Given the description of an element on the screen output the (x, y) to click on. 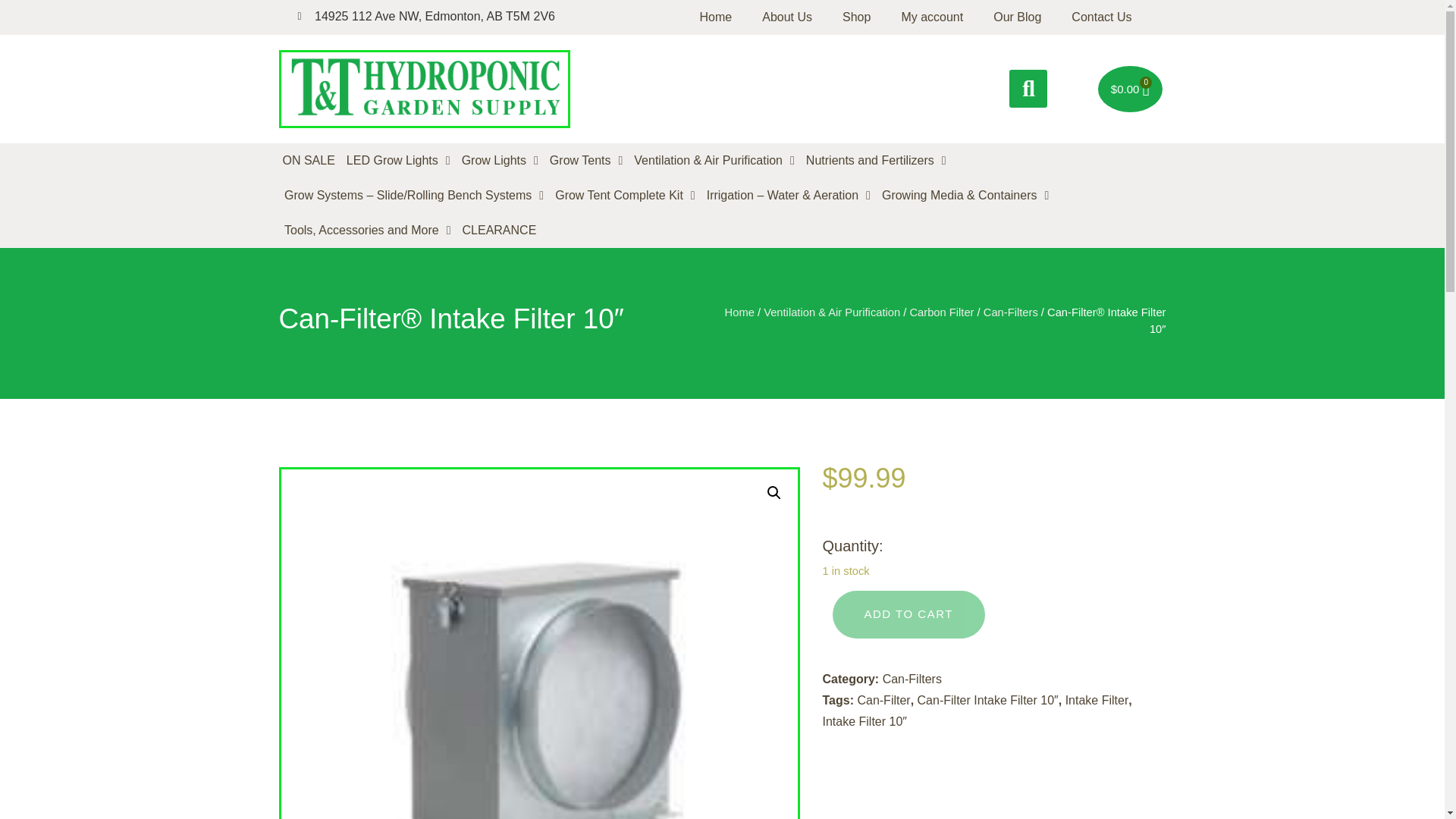
LED Grow Lights (398, 160)
ON SALE (309, 160)
About Us (786, 17)
Grow Tents (586, 160)
Shop (856, 17)
Grow Lights (499, 160)
Our Blog (1017, 17)
Contact Us (1102, 17)
My account (931, 17)
Home (716, 17)
